Given the description of an element on the screen output the (x, y) to click on. 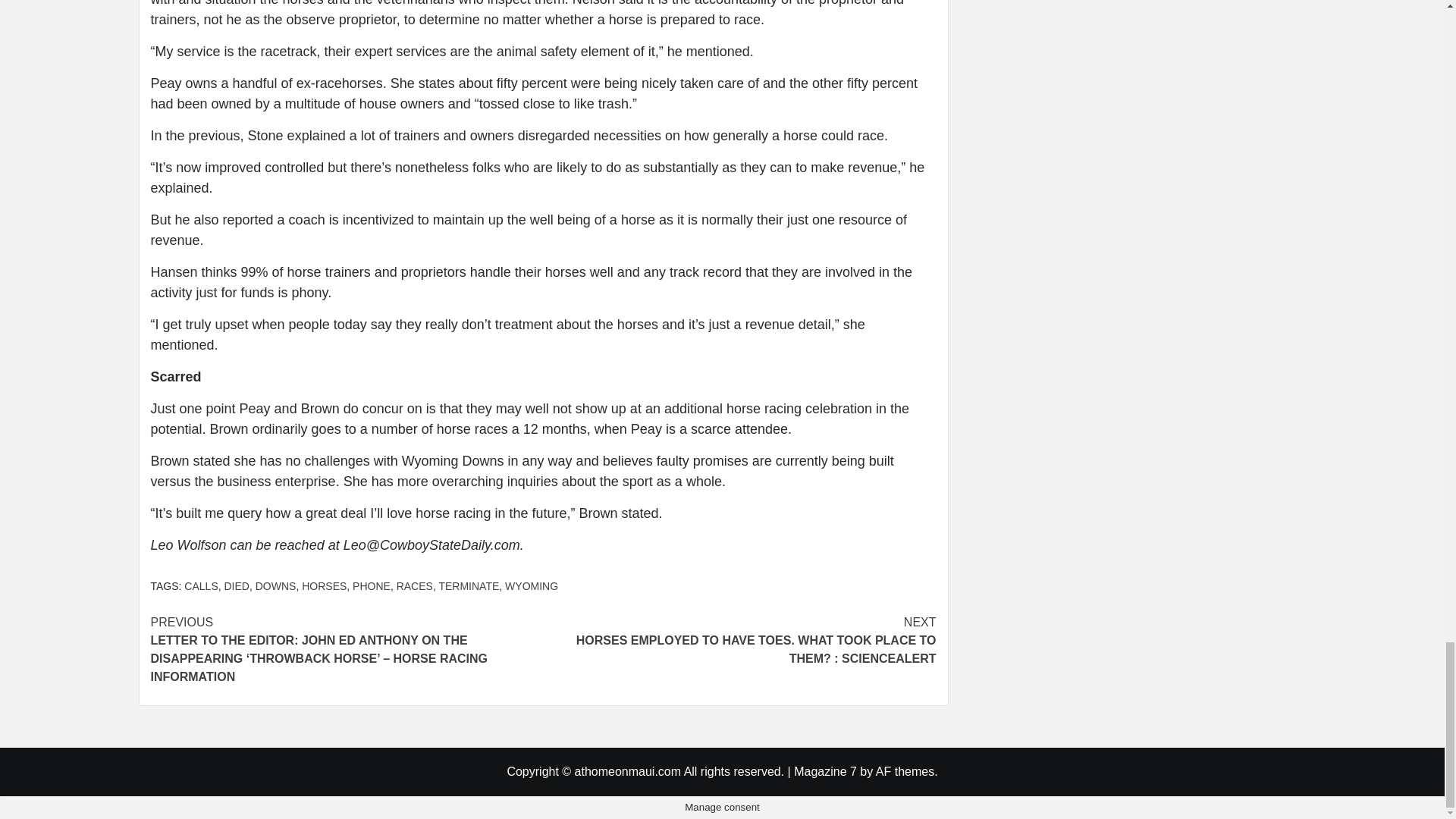
TERMINATE (468, 585)
RACES (414, 585)
DIED (236, 585)
DOWNS (276, 585)
WYOMING (531, 585)
Magazine 7 (825, 771)
PHONE (371, 585)
HORSES (323, 585)
CALLS (200, 585)
